Given the description of an element on the screen output the (x, y) to click on. 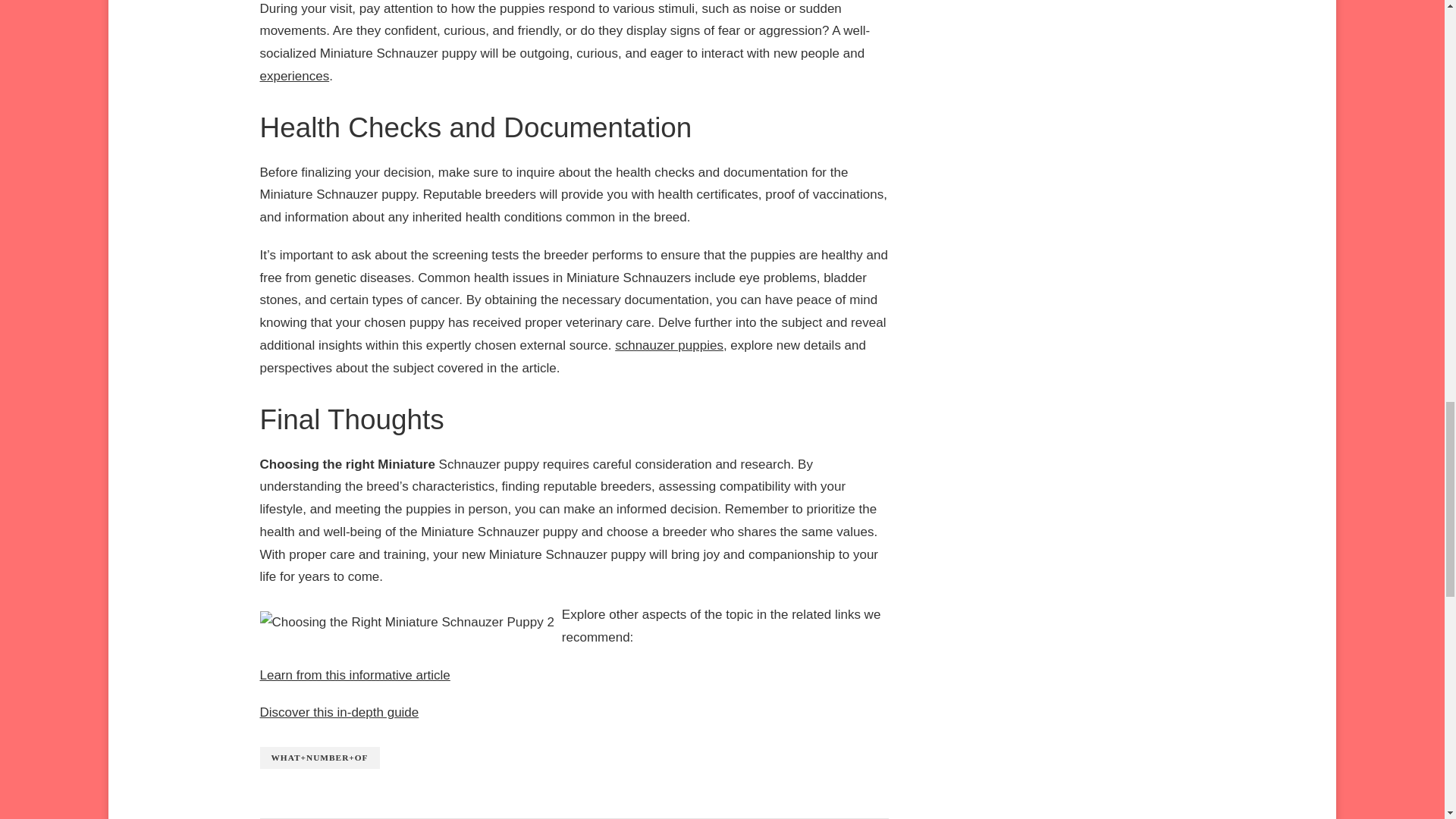
Discover this in-depth guide (339, 712)
experiences (294, 75)
schnauzer puppies (668, 345)
Learn from this informative article (354, 675)
